Given the description of an element on the screen output the (x, y) to click on. 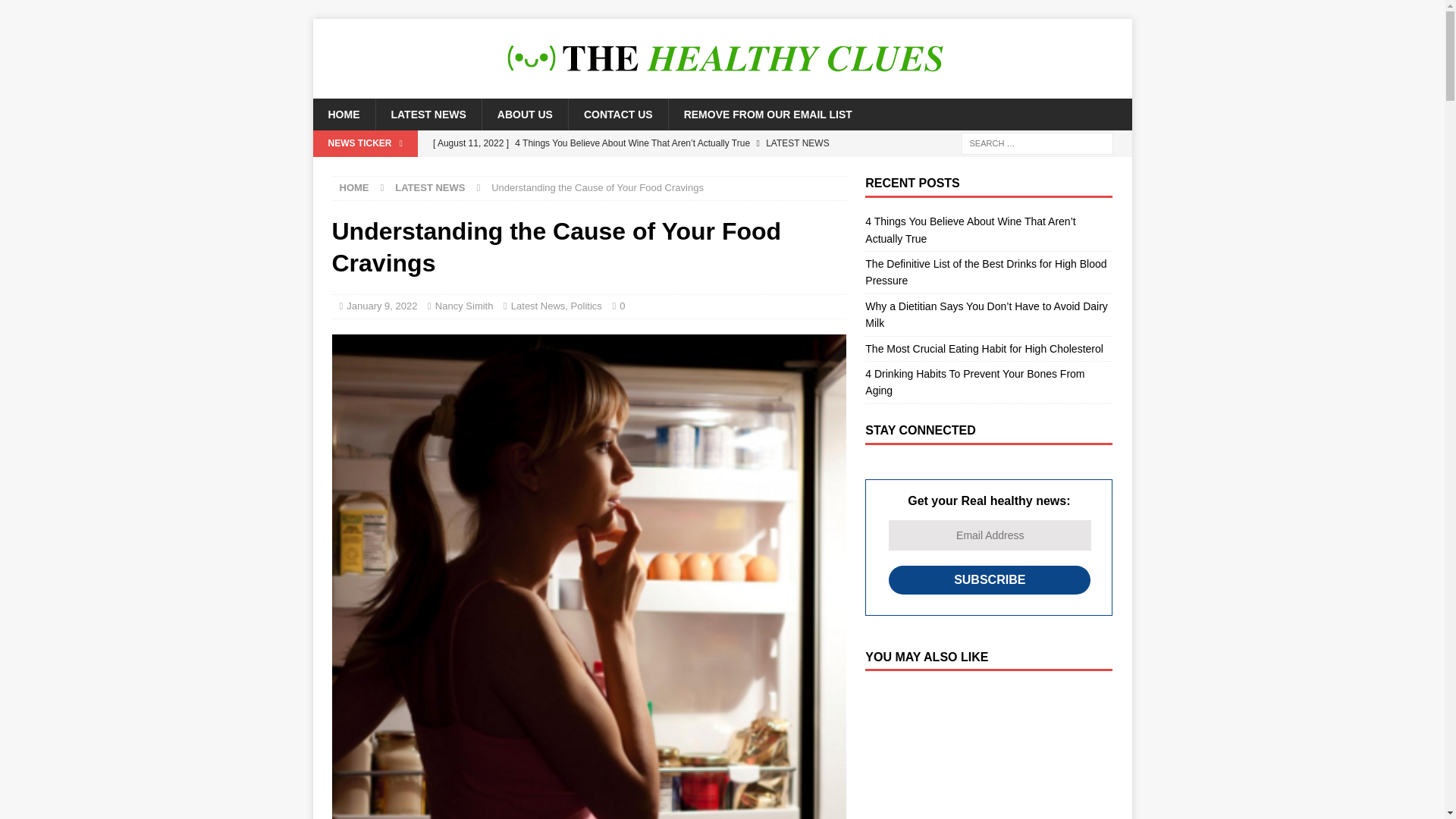
0 (625, 306)
Nancy Simith (464, 306)
Subscribe (989, 579)
Latest News (538, 306)
4 Drinking Habits To Prevent Your Bones From Aging (974, 381)
Politics (586, 306)
January 9, 2022 (381, 306)
The Most Crucial Eating Habit for High Cholesterol (983, 348)
HOME (354, 187)
